Given the description of an element on the screen output the (x, y) to click on. 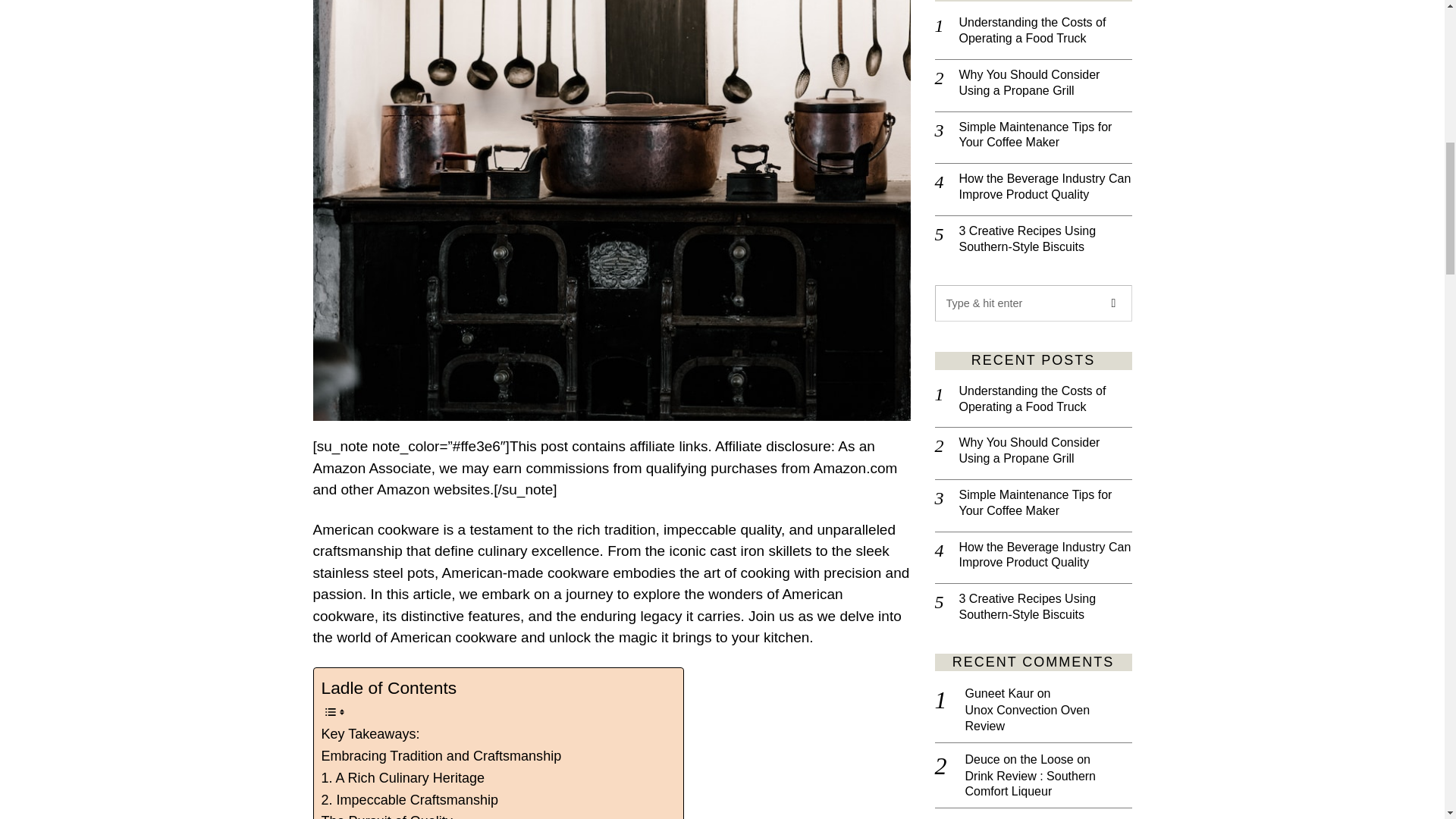
1. A Rich Culinary Heritage (402, 778)
The Pursuit of Quality (386, 814)
1. A Rich Culinary Heritage (402, 778)
2. Impeccable Craftsmanship (410, 800)
The Pursuit of Quality (386, 814)
Key Takeaways: (370, 734)
2. Impeccable Craftsmanship (410, 800)
Embracing Tradition and Craftsmanship (441, 756)
Embracing Tradition and Craftsmanship (441, 756)
Key Takeaways: (370, 734)
